Given the description of an element on the screen output the (x, y) to click on. 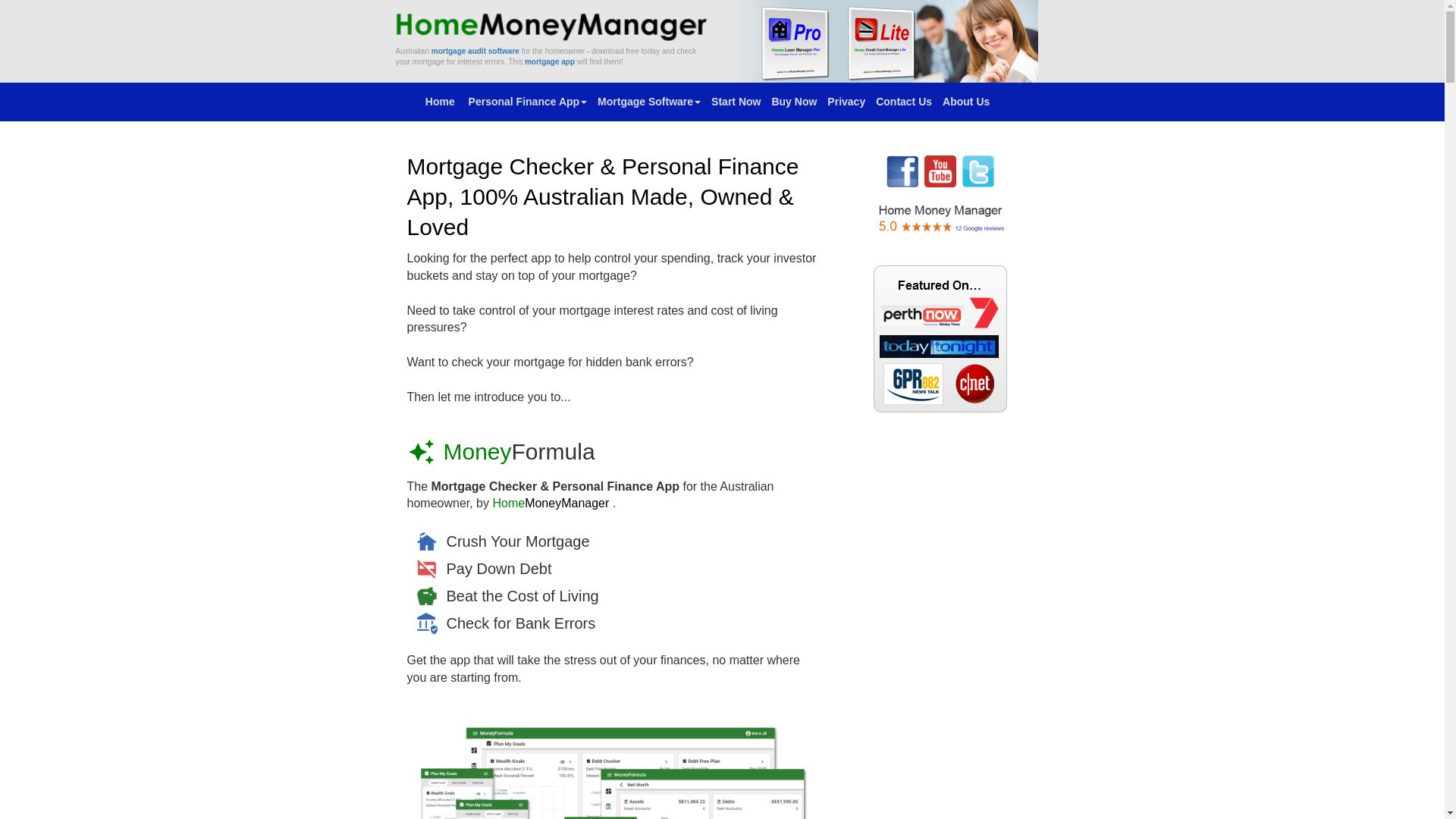
HomeMoneyManager - Twitter Page Element type: hover (978, 171)
Buy Now Element type: text (793, 101)
Privacy Element type: text (846, 101)
Start Now Element type: text (735, 101)
About Us Element type: text (965, 101)
Personal Finance App Element type: text (528, 101)
Home  Element type: text (441, 101)
HomeMoneyManager - Facebook Page Element type: hover (902, 171)
mortgage app Element type: text (549, 61)
Mortgage Software - Reviews and Testimonials Element type: hover (940, 217)
www.HomeMoneyManager.com Element type: hover (553, 24)
HomeMoneyManager - YouTube Channel Element type: hover (940, 171)
Mortgage Software Element type: text (649, 101)
mortgage audit software Element type: text (475, 51)
Contact Us Element type: text (903, 101)
MoneyFormula Element type: text (518, 451)
